Given the description of an element on the screen output the (x, y) to click on. 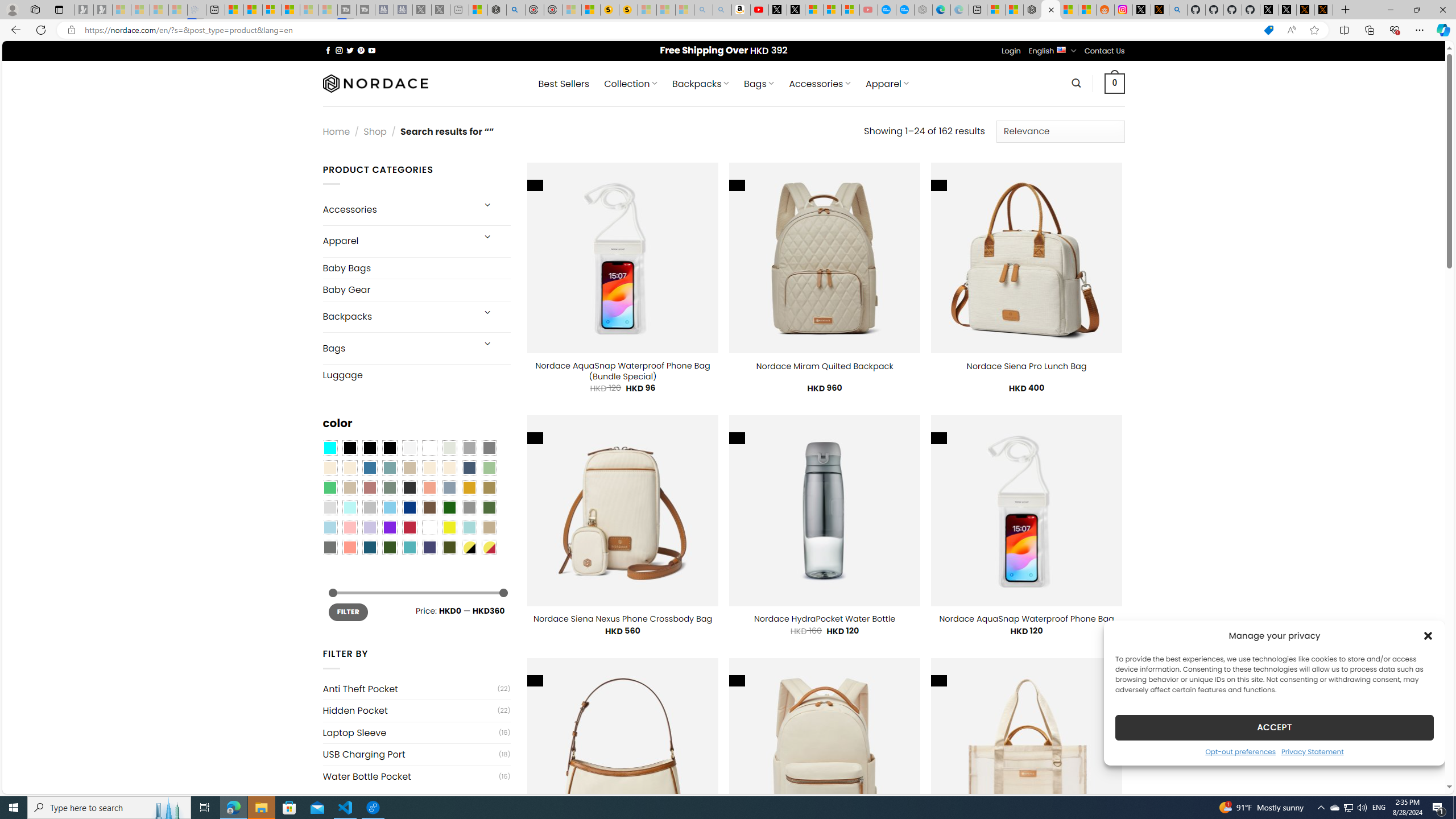
X Privacy Policy (1324, 9)
  0   (1115, 83)
Dark Gray (468, 447)
Follow on Twitter (349, 49)
Newsletter Sign Up - Sleeping (102, 9)
Nordace (374, 83)
GitHub (@github) / X (1287, 9)
Capri Blue (369, 547)
 0  (1115, 83)
Contact Us (1104, 50)
Brownie (408, 467)
Follow on Instagram (338, 49)
Purple (389, 527)
